Given the description of an element on the screen output the (x, y) to click on. 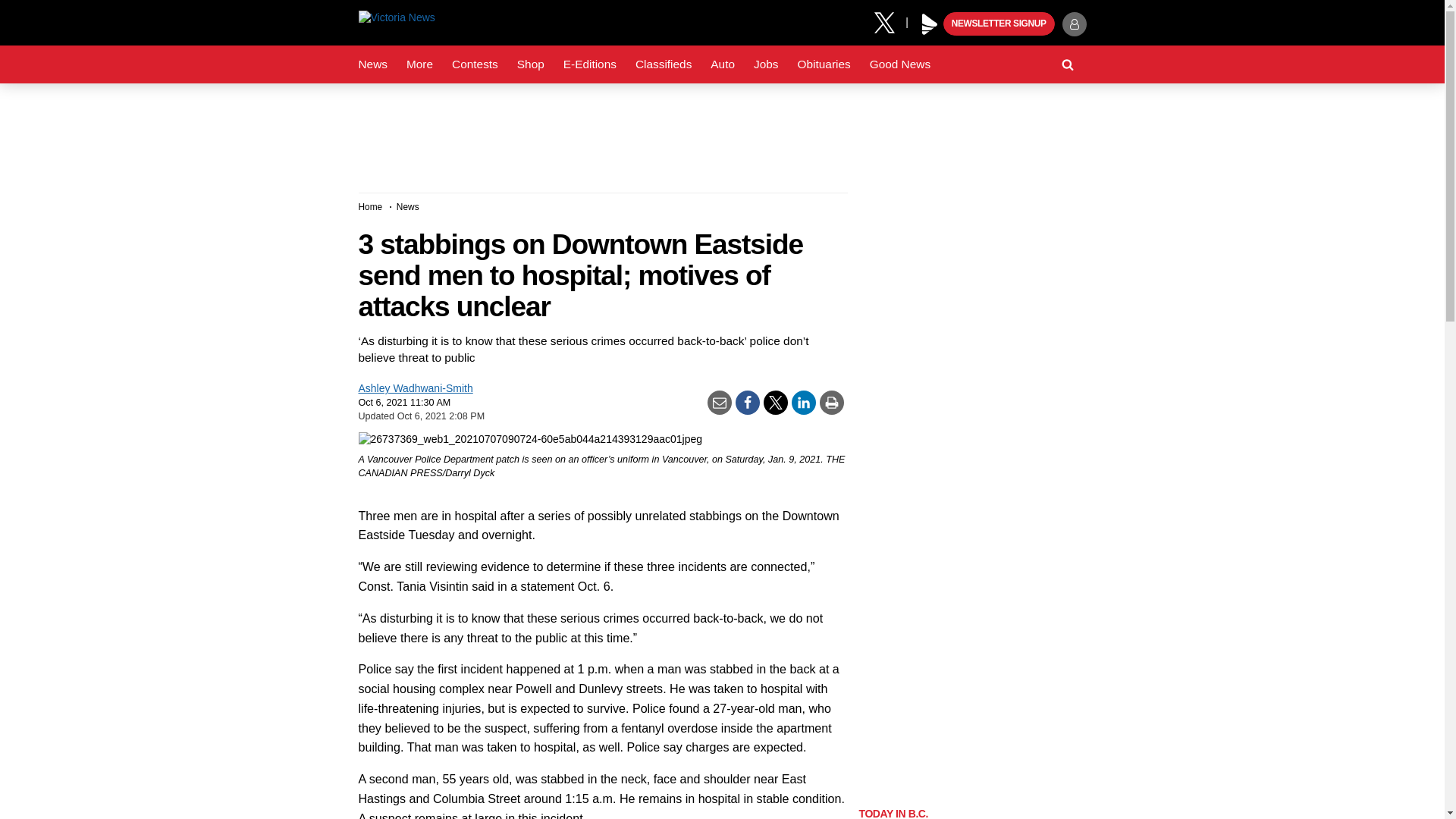
News (372, 64)
Black Press Media (929, 24)
X (889, 21)
Play (929, 24)
NEWSLETTER SIGNUP (998, 24)
